Given the description of an element on the screen output the (x, y) to click on. 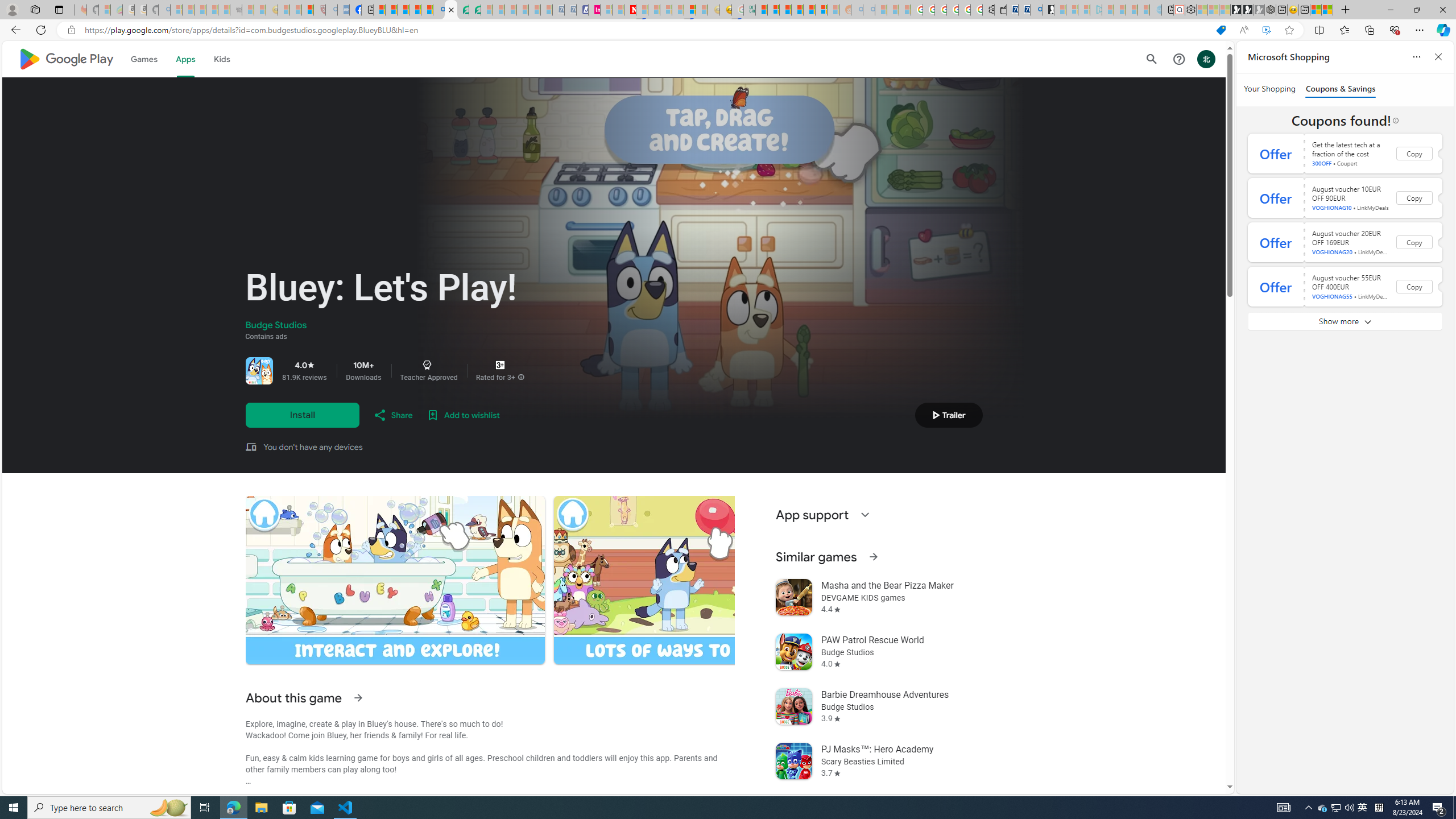
Microsoft Start - Sleeping (1131, 9)
Jobs - lastminute.com Investor Portal (594, 9)
See more information on About this game (357, 697)
Robert H. Shmerling, MD - Harvard Health - Sleeping (319, 9)
Microsoft account | Privacy (773, 9)
The Weather Channel - MSN - Sleeping (200, 9)
Microsoft-Report a Concern to Bing - Sleeping (104, 9)
